Given the description of an element on the screen output the (x, y) to click on. 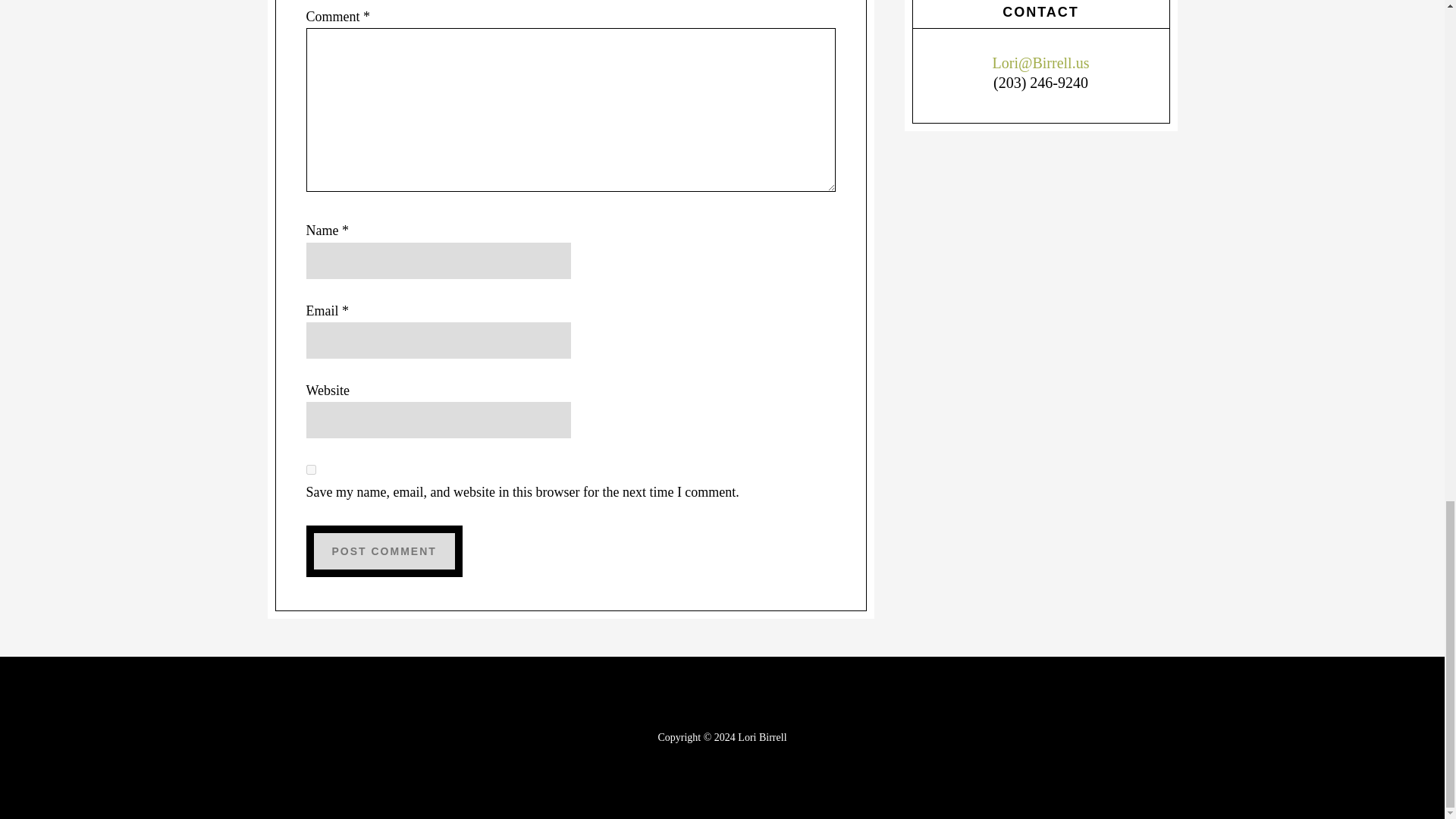
yes (310, 470)
Post Comment (384, 550)
Post Comment (384, 550)
